Given the description of an element on the screen output the (x, y) to click on. 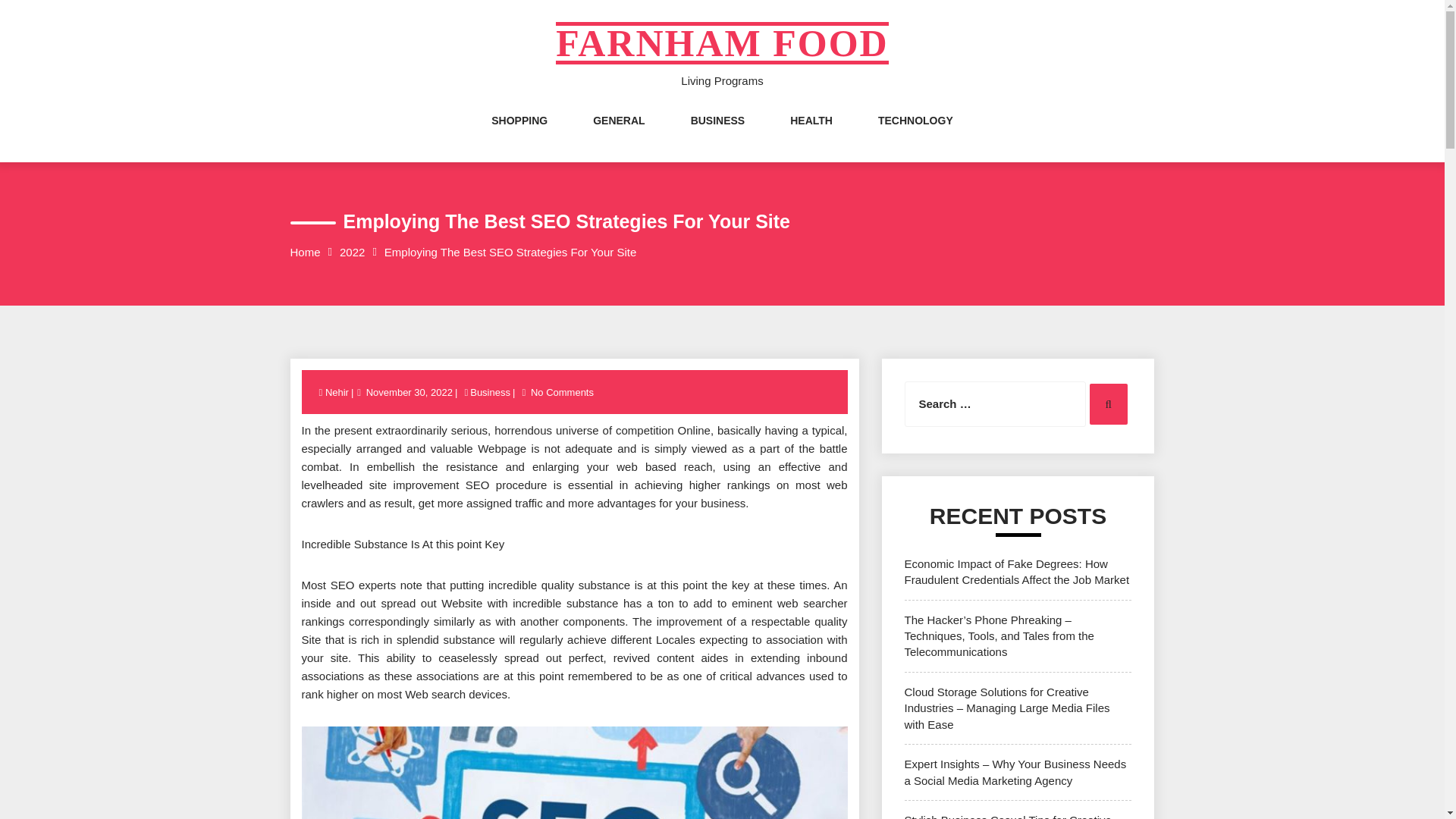
Search (1107, 404)
Nehir (337, 392)
GENERAL (618, 135)
SHOPPING (519, 135)
TECHNOLOGY (915, 135)
Stylish Business Casual Tips for Creative Professionals (1007, 816)
November 30, 2022 (409, 392)
BUSINESS (717, 135)
No Comments (561, 392)
